Given the description of an element on the screen output the (x, y) to click on. 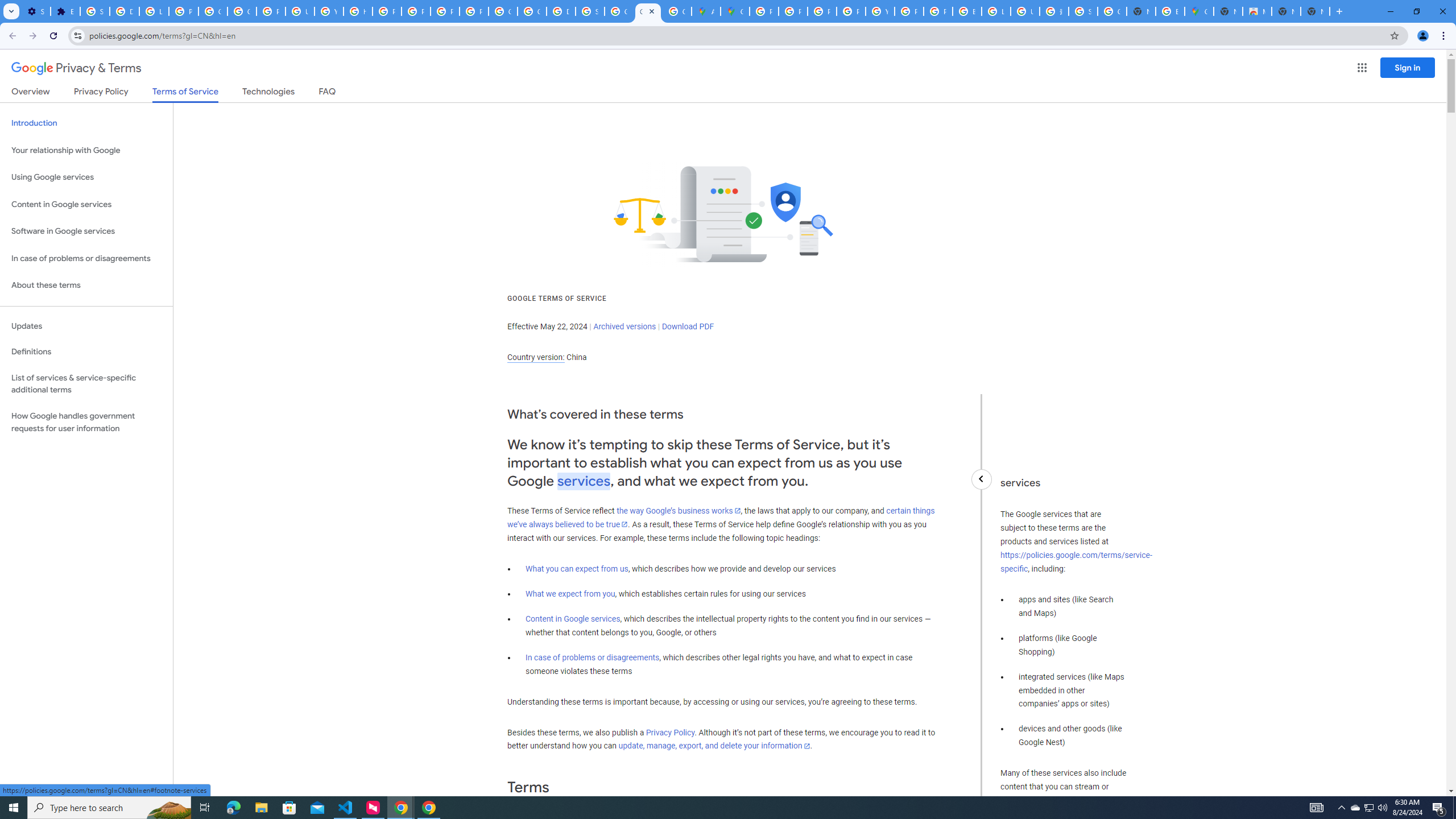
Sign in - Google Accounts (1082, 11)
update, manage, export, and delete your information (714, 746)
Settings - On startup (35, 11)
YouTube (879, 11)
Delete photos & videos - Computer - Google Photos Help (124, 11)
